Given the description of an element on the screen output the (x, y) to click on. 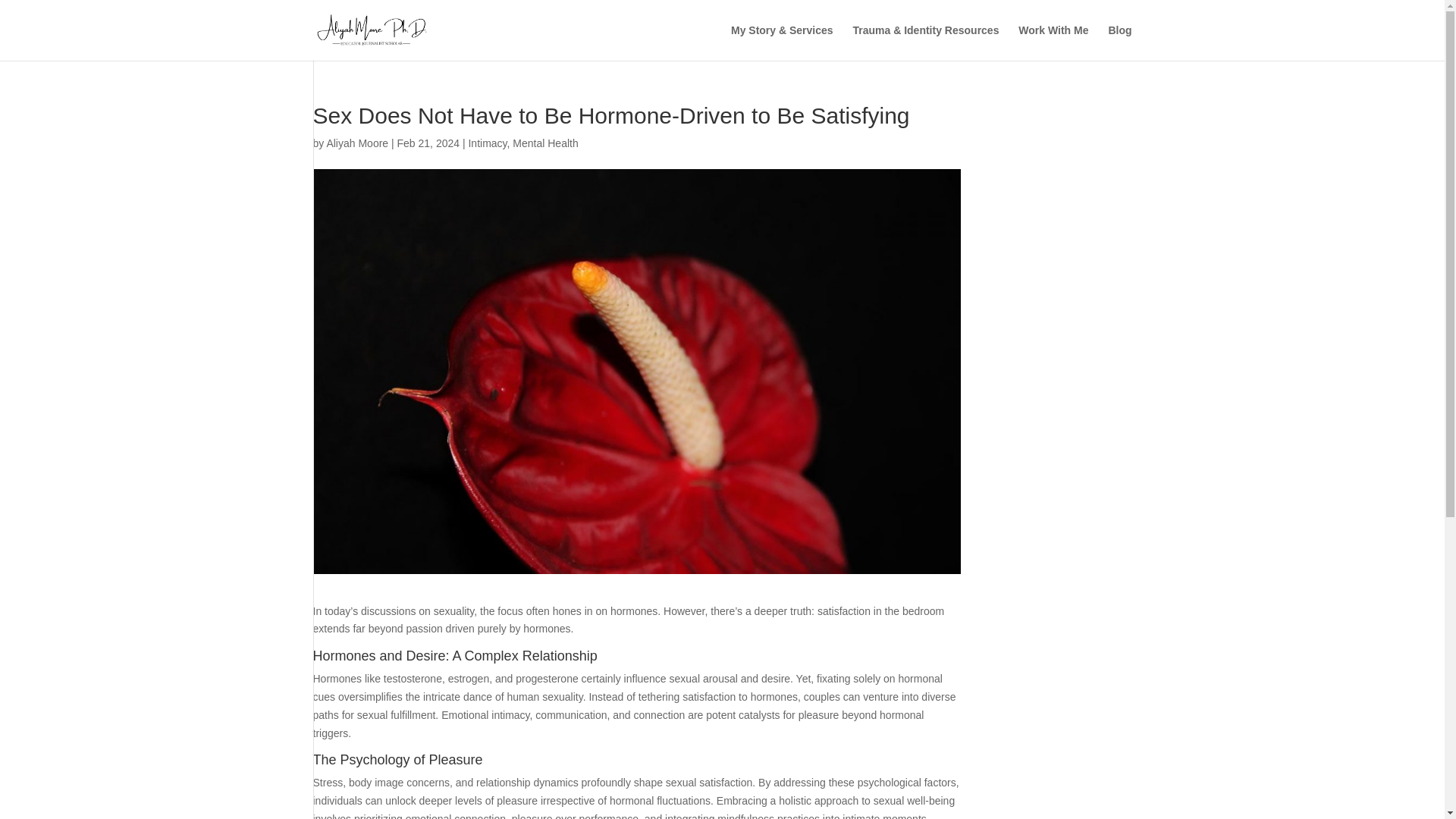
Posts by Aliyah Moore (357, 143)
Aliyah Moore (357, 143)
Blog (1119, 42)
Work With Me (1052, 42)
Mental Health (545, 143)
Intimacy (486, 143)
